Given the description of an element on the screen output the (x, y) to click on. 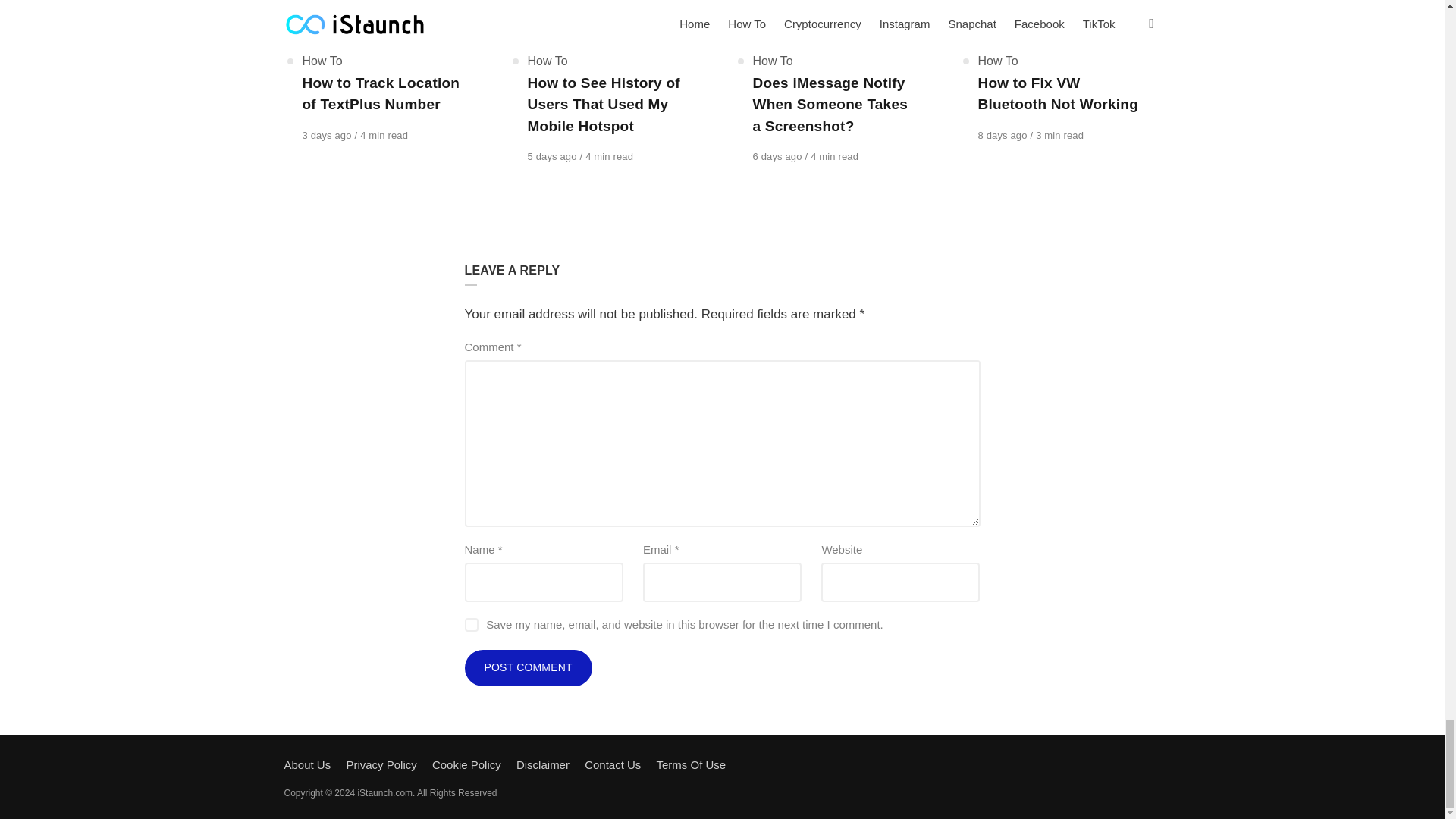
July 23, 2024 (553, 156)
July 25, 2024 (327, 134)
Post Comment (527, 668)
July 22, 2024 (778, 156)
yes (470, 624)
July 20, 2024 (1004, 134)
